Given the description of an element on the screen output the (x, y) to click on. 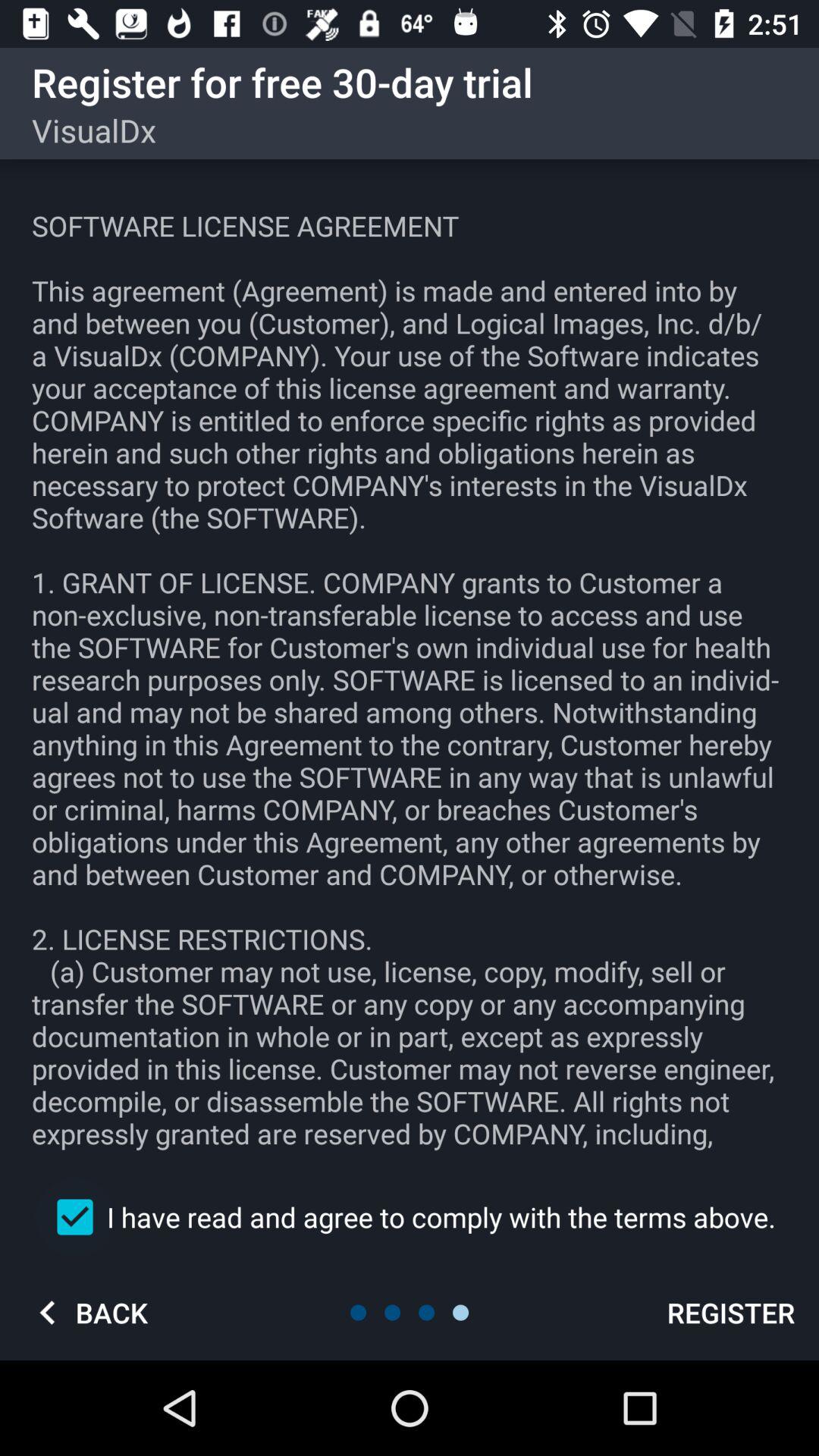
press back icon (87, 1312)
